Given the description of an element on the screen output the (x, y) to click on. 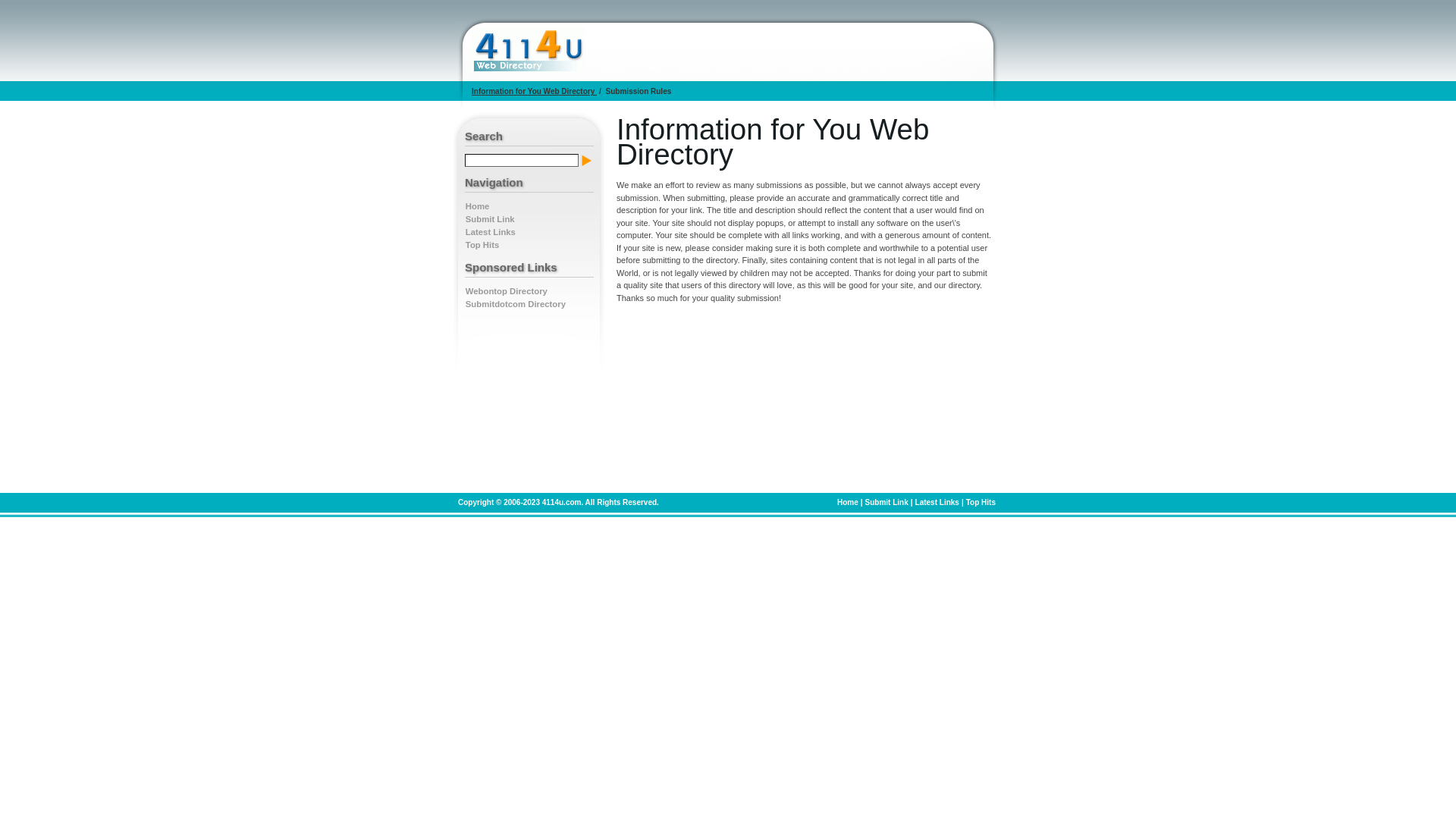
Top Hits Element type: text (481, 244)
Home Element type: text (477, 205)
Information for You Web Directory Element type: text (533, 91)
Latest Links Element type: text (937, 501)
Submit Link Element type: text (886, 501)
Latest Links Element type: text (490, 231)
Top Hits Element type: text (980, 501)
Information for You Web Directory Element type: hover (528, 49)
Home Element type: text (847, 501)
Webontop Directory Element type: text (506, 290)
Submit Link Element type: text (489, 218)
Submitdotcom Directory Element type: text (515, 303)
